Given the description of an element on the screen output the (x, y) to click on. 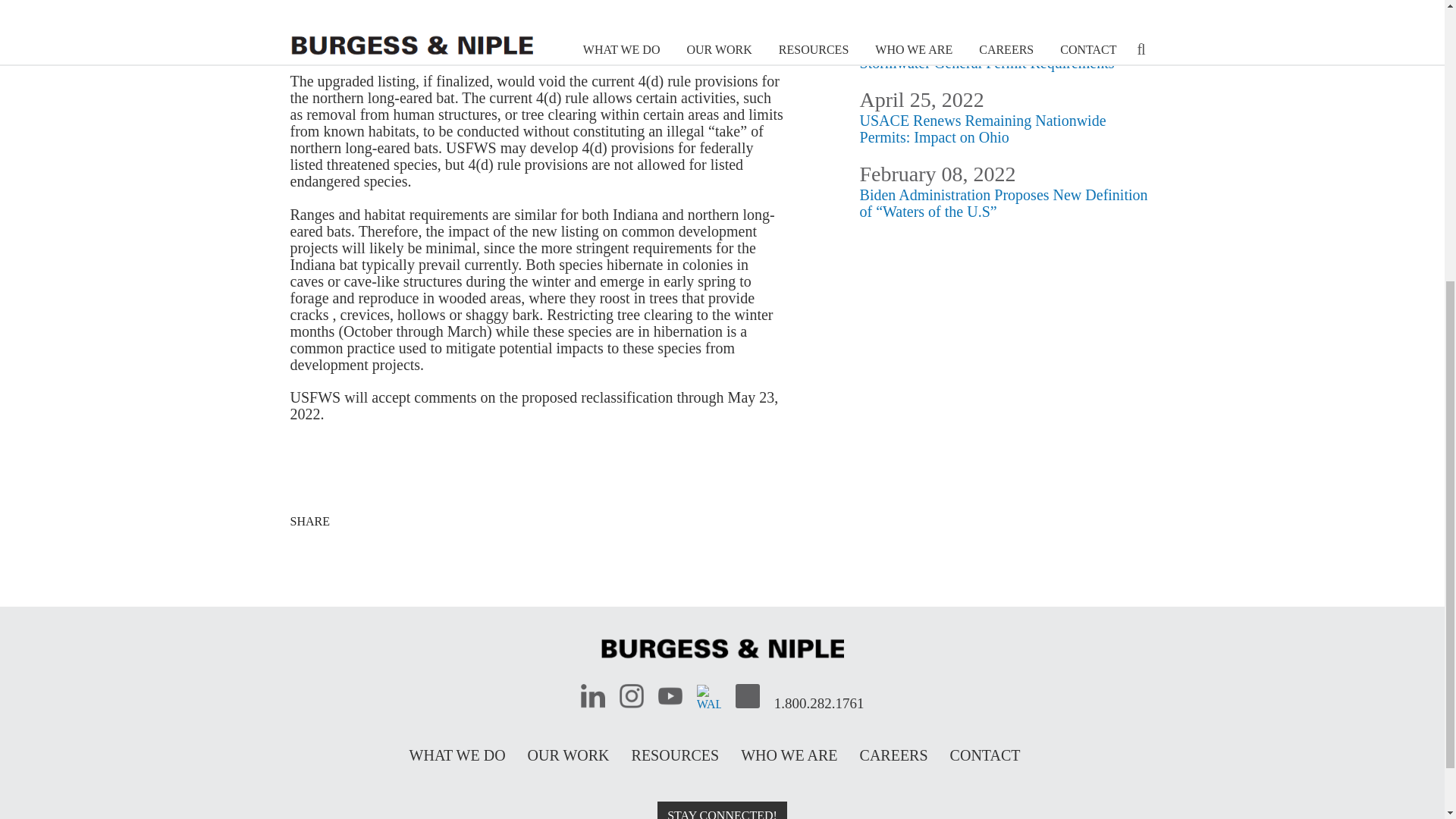
Follow us on YouTube (670, 695)
WHO WE ARE (789, 754)
CAREERS (894, 754)
Follow us on SoundCloud (747, 695)
Follow us on WALLS.IO (708, 696)
RESOURCES (675, 754)
WHAT WE DO (457, 754)
OUR WORK (568, 754)
